Given the description of an element on the screen output the (x, y) to click on. 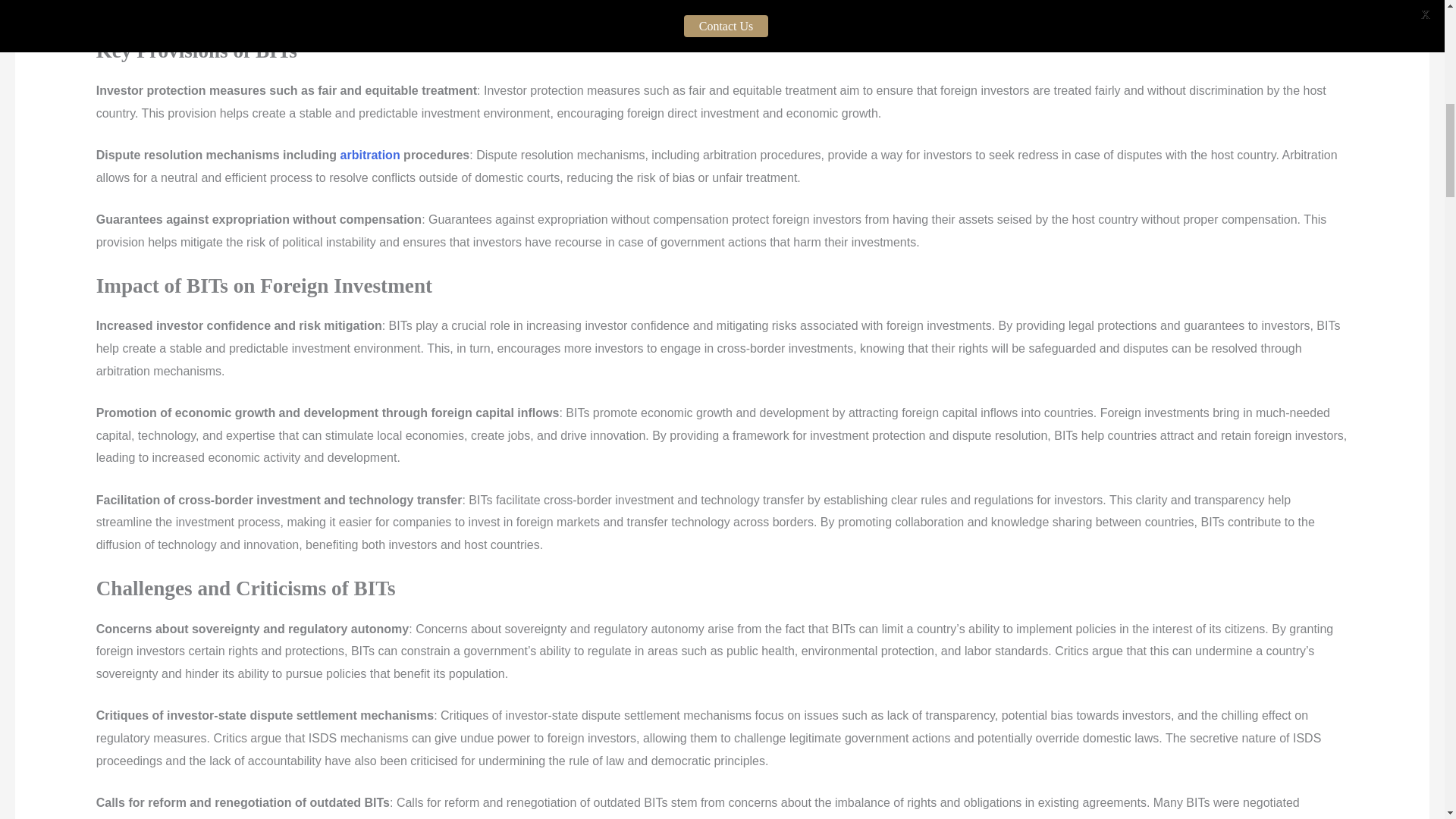
arbitration (370, 154)
arbitration (370, 154)
